Given the description of an element on the screen output the (x, y) to click on. 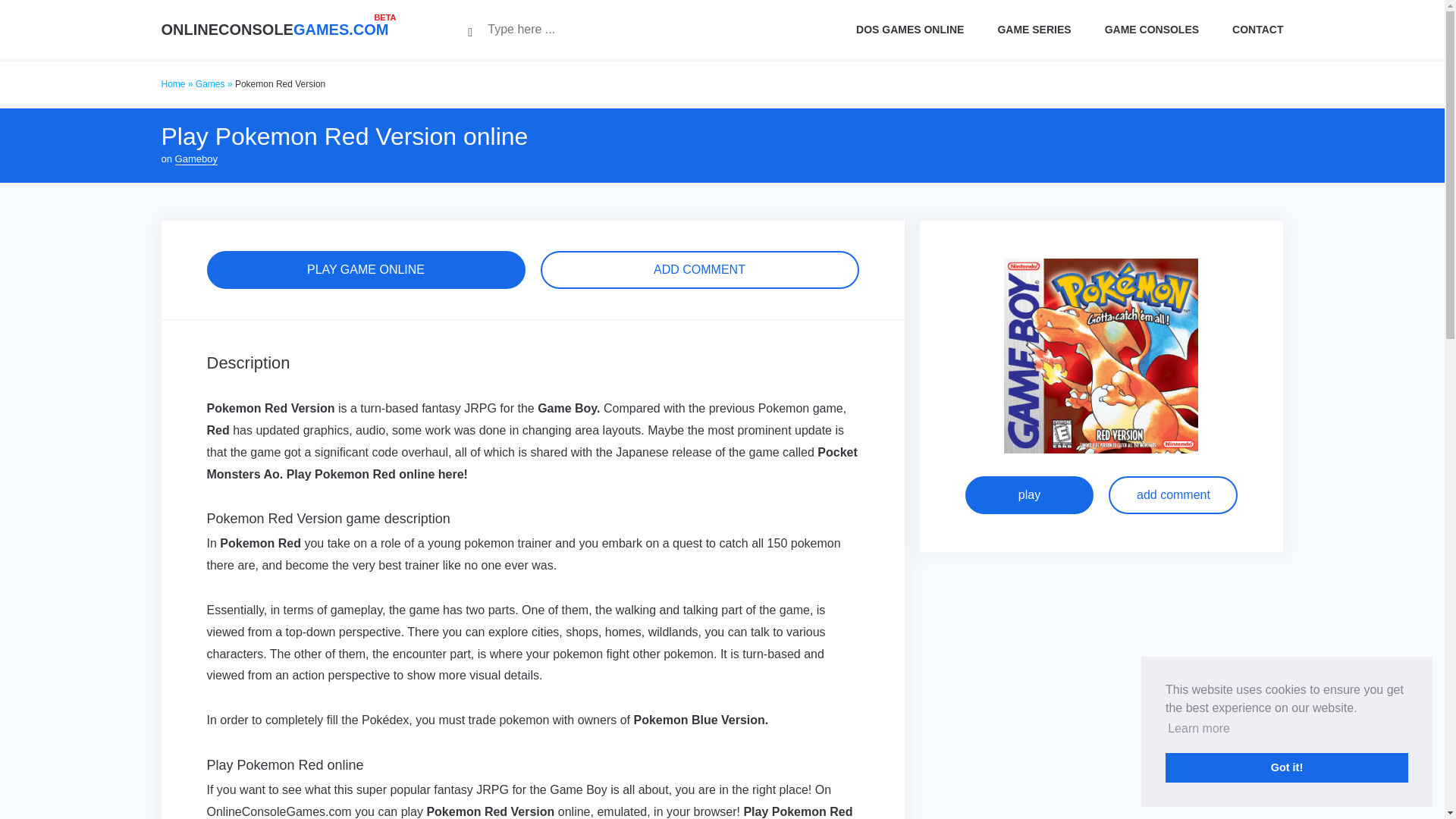
Home (172, 83)
ADD COMMENT (699, 269)
PLAY GAME ONLINE (365, 269)
Learn more (1198, 728)
GAME SERIES (1033, 29)
Games (210, 83)
DOS GAMES ONLINE (909, 29)
add comment (1172, 494)
Gameboy (195, 159)
ONLINECONSOLEGAMES.COM (274, 29)
GAME CONSOLES (1151, 29)
Got it! (1286, 767)
play (1028, 494)
